Given the description of an element on the screen output the (x, y) to click on. 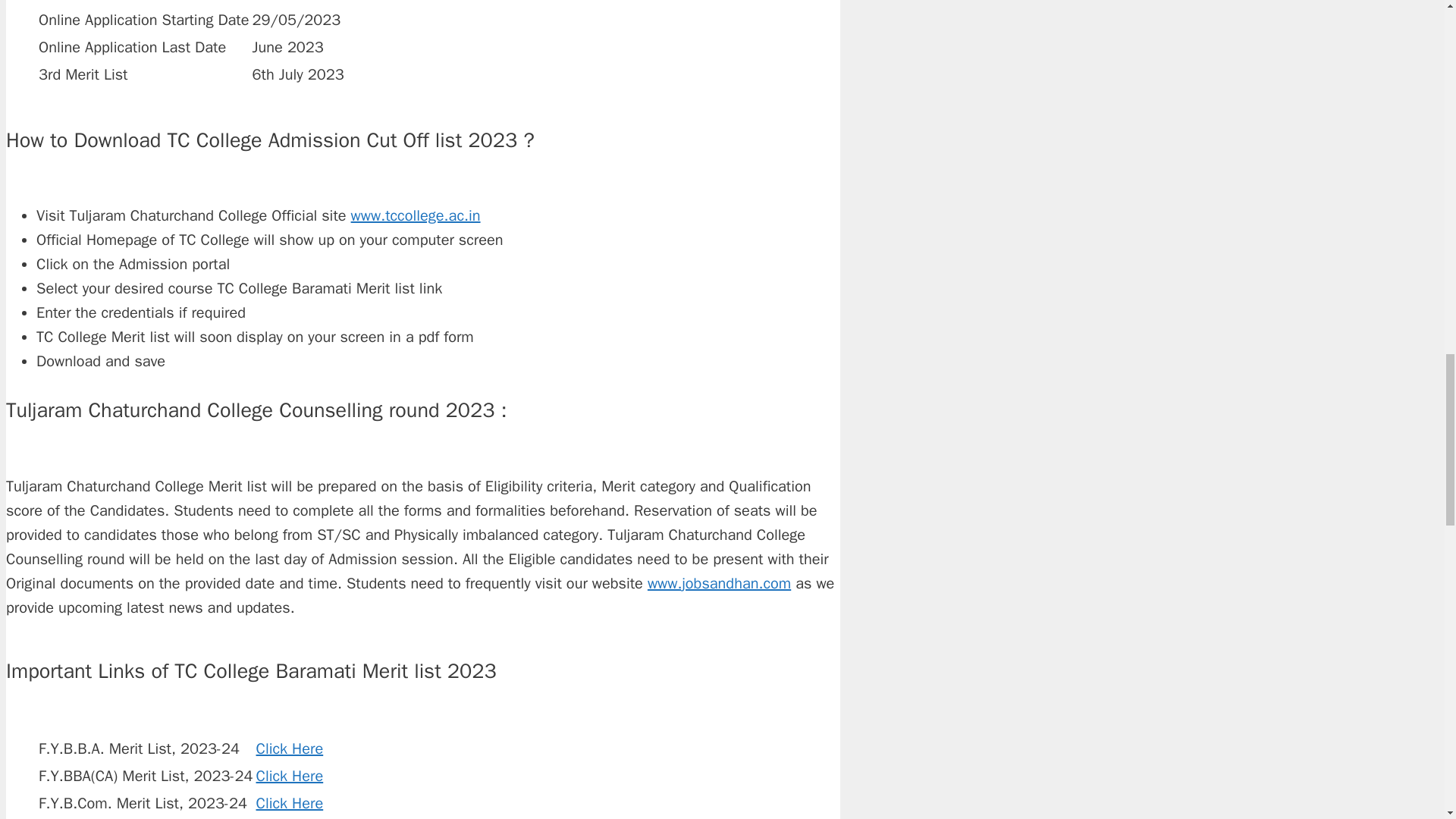
www.tccollege.ac.in (415, 215)
Click Here (289, 803)
Click Here (289, 775)
Click Here (289, 748)
www.jobsandhan.com (718, 583)
